Given the description of an element on the screen output the (x, y) to click on. 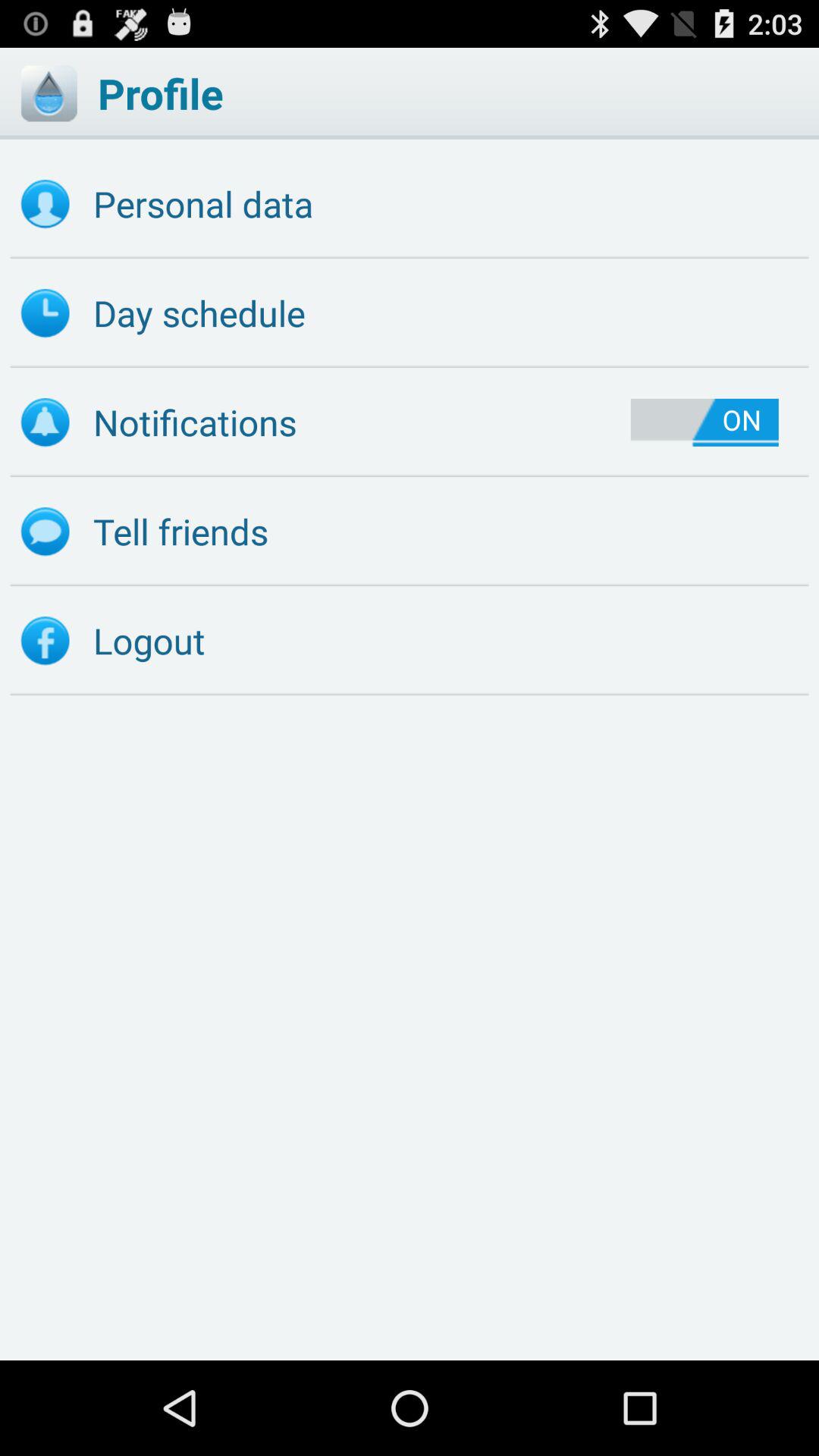
turn on button above day schedule button (409, 203)
